Given the description of an element on the screen output the (x, y) to click on. 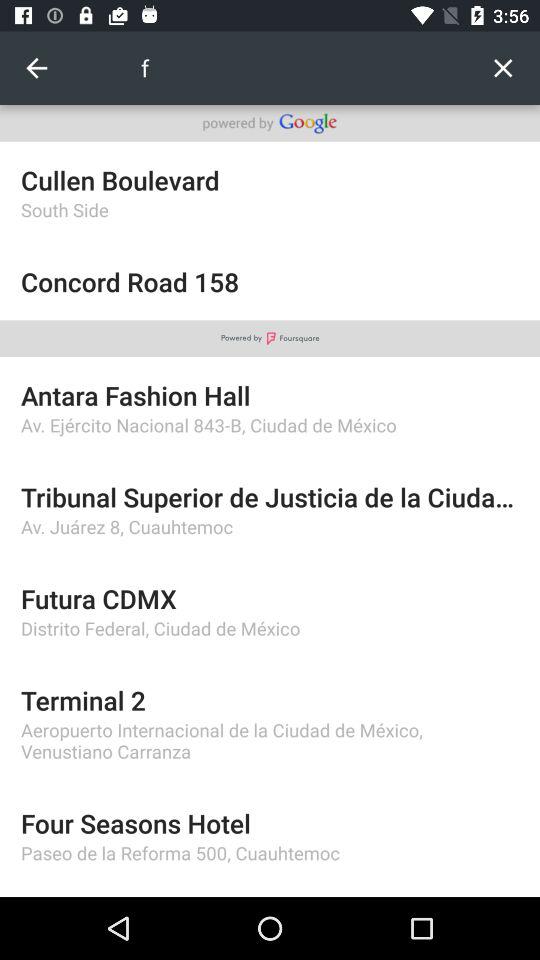
jump until cullen boulevard app (270, 179)
